Given the description of an element on the screen output the (x, y) to click on. 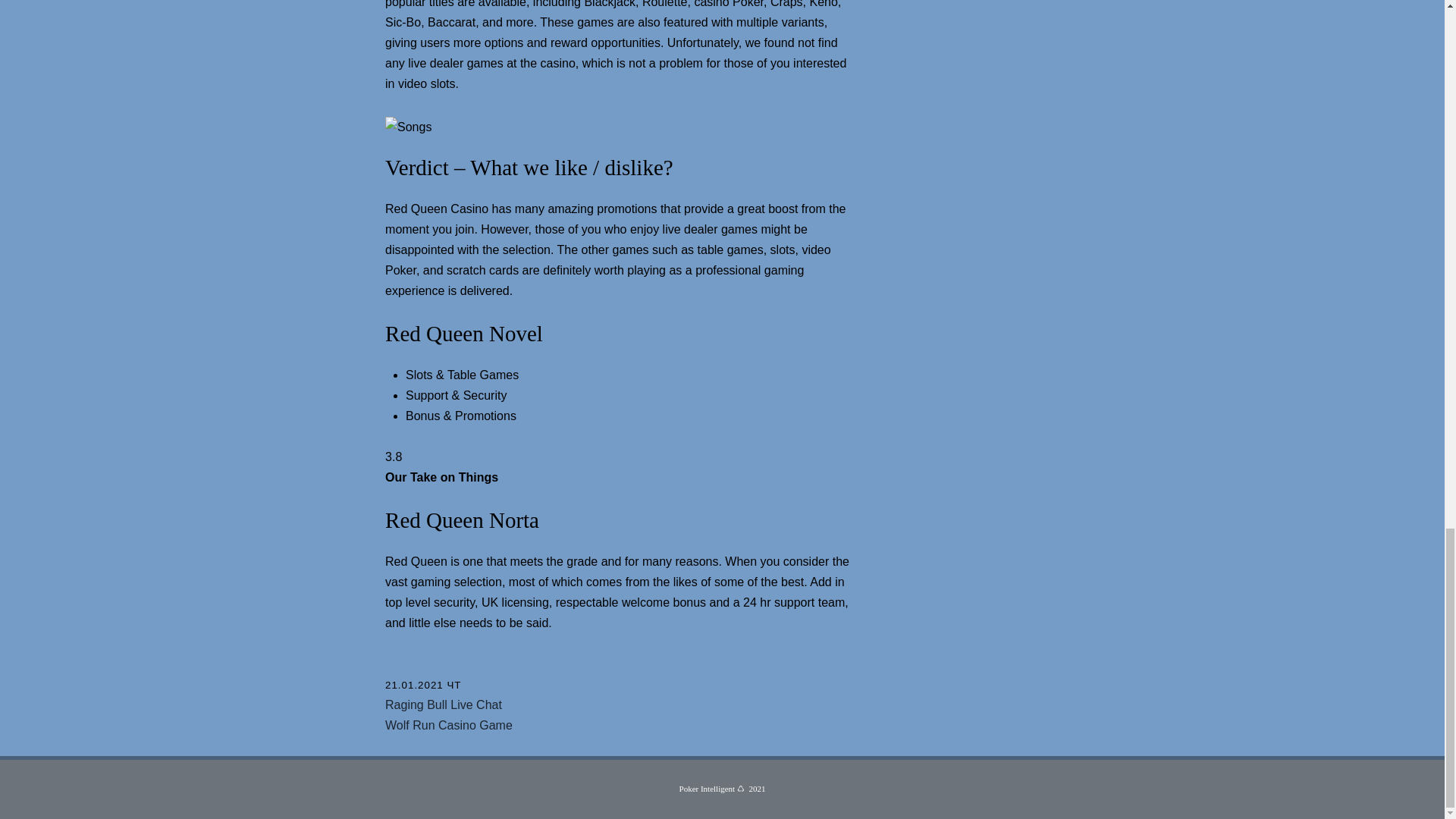
Songs (407, 127)
Raging Bull Live Chat (443, 704)
Poker Intelligent (707, 788)
Poker Intelligent (707, 788)
Wolf Run Casino Game (448, 725)
